Given the description of an element on the screen output the (x, y) to click on. 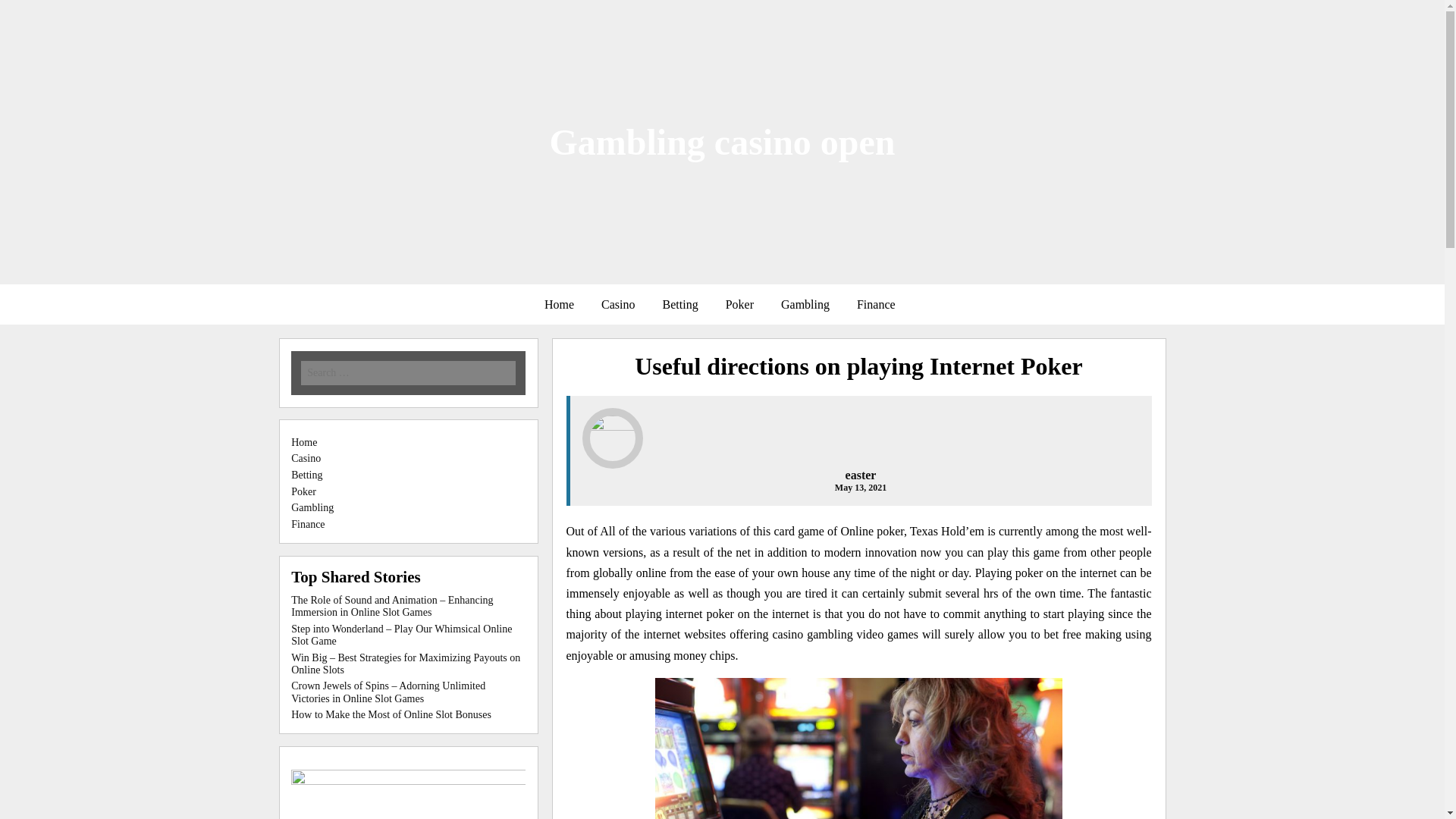
Finance (307, 523)
Home (304, 441)
Gambling (804, 304)
May 13, 2021 (860, 487)
1:46 pm (860, 487)
Gambling casino open (721, 142)
Home (559, 304)
Gambling (312, 507)
Finance (875, 304)
Search (216, 11)
